Given the description of an element on the screen output the (x, y) to click on. 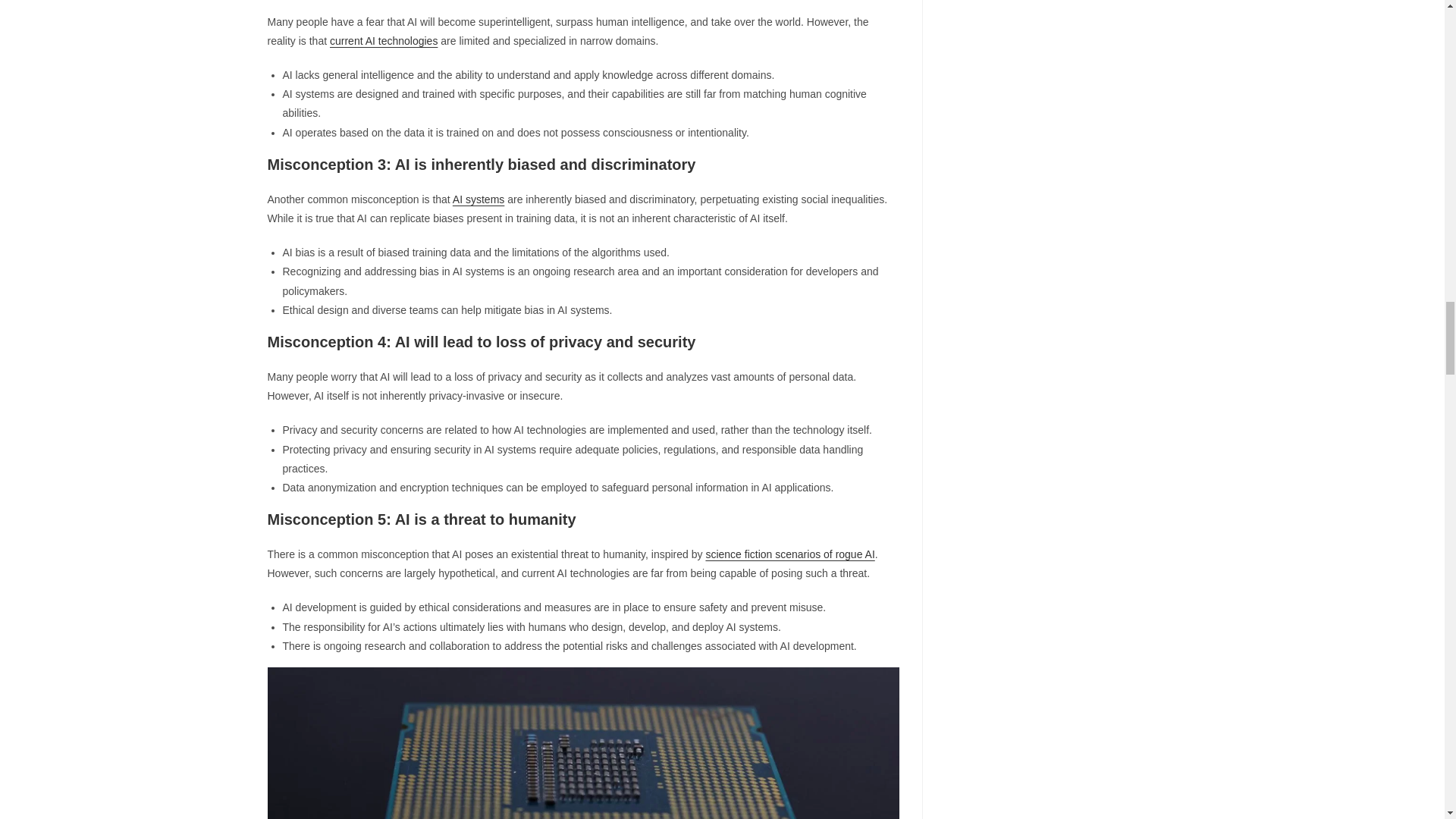
science fiction scenarios of rogue AI (789, 553)
current AI technologies (384, 40)
Is AI Harmful? (582, 743)
AI systems (477, 199)
